Given the description of an element on the screen output the (x, y) to click on. 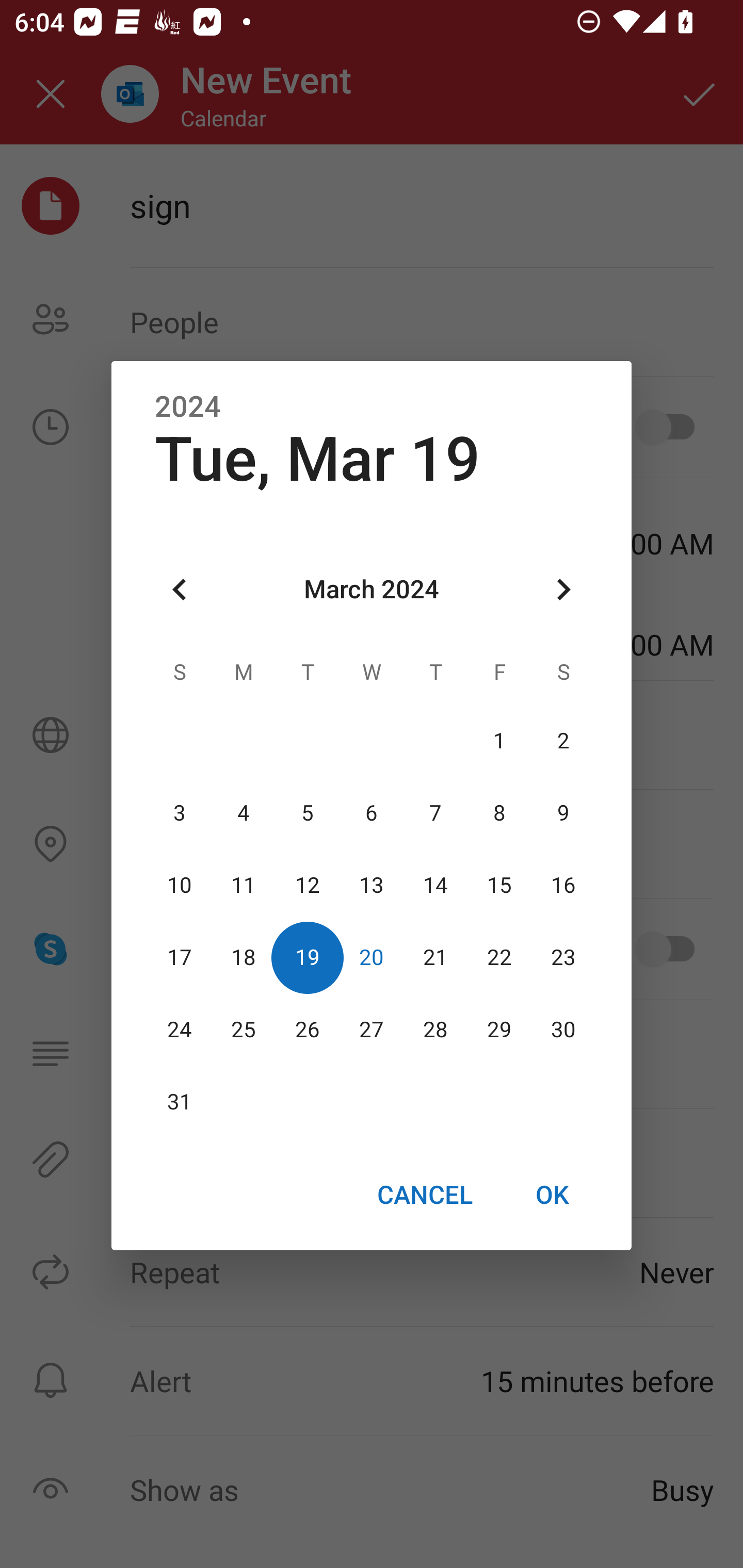
2024 (187, 406)
Tue, Mar 19 (317, 459)
Previous month (178, 589)
Next month (563, 589)
1 01 March 2024 (499, 741)
2 02 March 2024 (563, 741)
3 03 March 2024 (179, 813)
4 04 March 2024 (243, 813)
5 05 March 2024 (307, 813)
6 06 March 2024 (371, 813)
7 07 March 2024 (435, 813)
8 08 March 2024 (499, 813)
9 09 March 2024 (563, 813)
10 10 March 2024 (179, 885)
11 11 March 2024 (243, 885)
12 12 March 2024 (307, 885)
13 13 March 2024 (371, 885)
14 14 March 2024 (435, 885)
15 15 March 2024 (499, 885)
16 16 March 2024 (563, 885)
17 17 March 2024 (179, 957)
18 18 March 2024 (243, 957)
19 19 March 2024 (307, 957)
20 20 March 2024 (371, 957)
21 21 March 2024 (435, 957)
22 22 March 2024 (499, 957)
23 23 March 2024 (563, 957)
24 24 March 2024 (179, 1030)
25 25 March 2024 (243, 1030)
26 26 March 2024 (307, 1030)
27 27 March 2024 (371, 1030)
28 28 March 2024 (435, 1030)
29 29 March 2024 (499, 1030)
30 30 March 2024 (563, 1030)
31 31 March 2024 (179, 1102)
CANCEL (424, 1194)
OK (552, 1194)
